Given the description of an element on the screen output the (x, y) to click on. 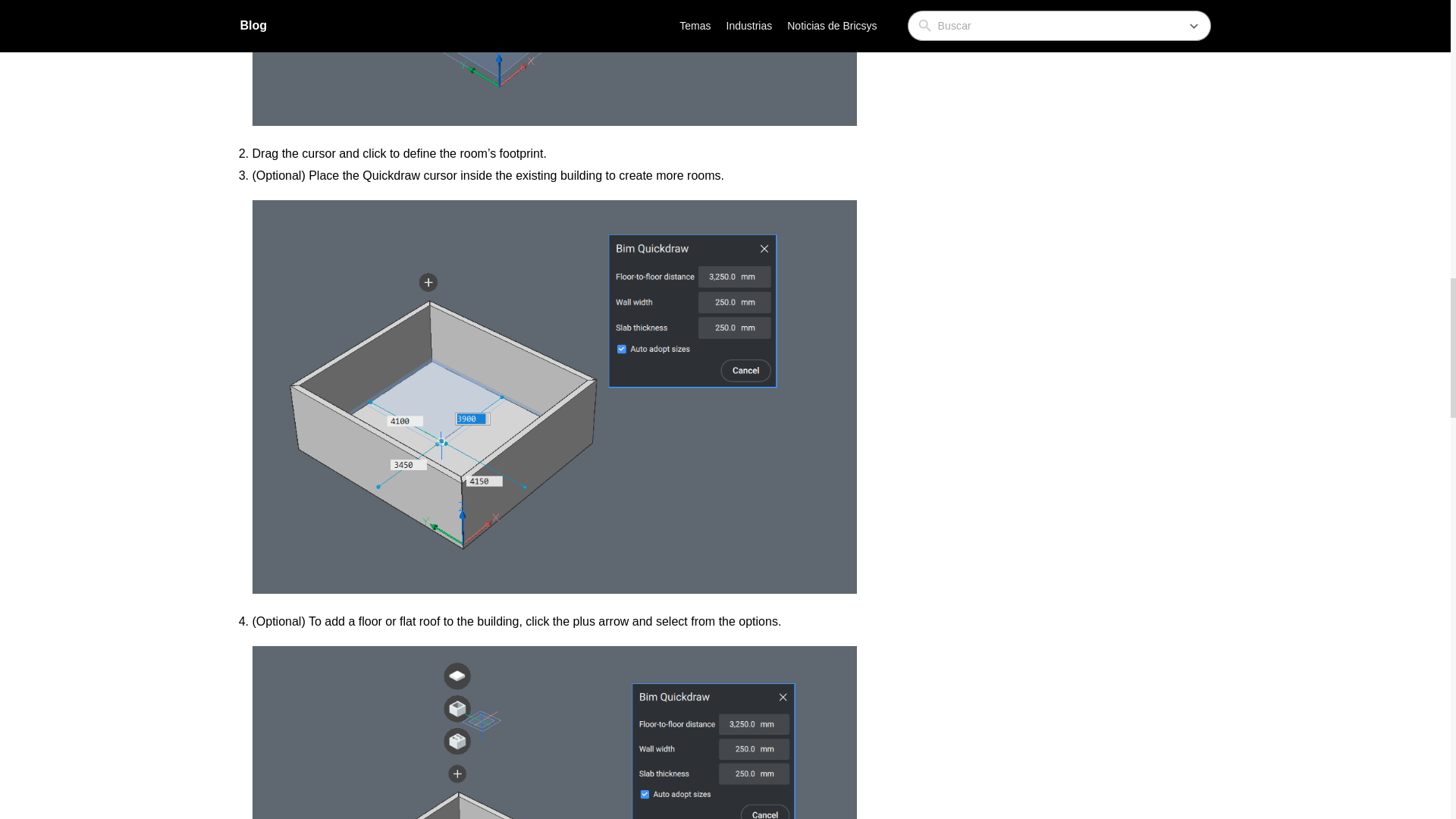
bimquickdraw in BricsCAD BIM and BricsCAD Ultimate (553, 63)
bimquickdraw 3 (553, 732)
